Given the description of an element on the screen output the (x, y) to click on. 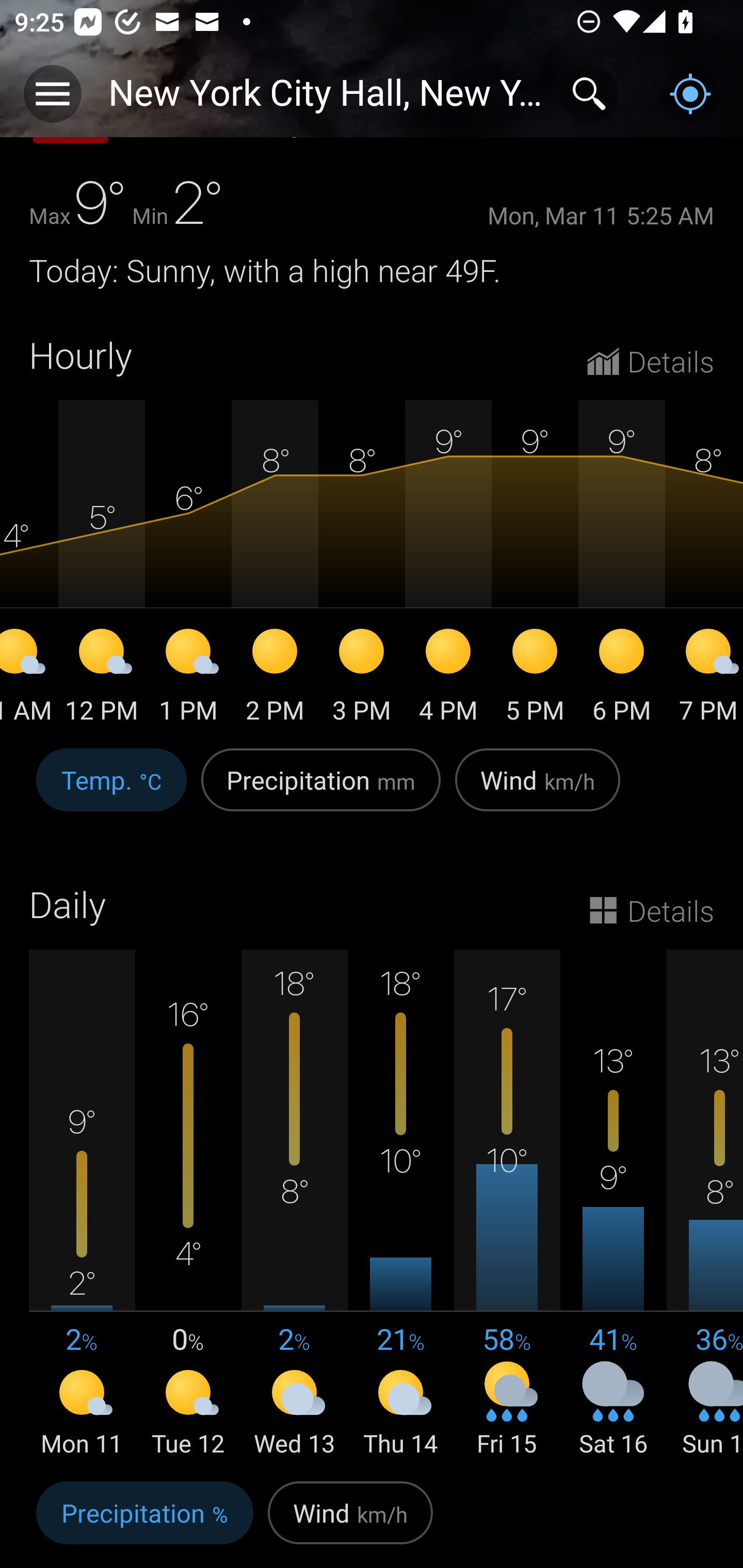
11 AM (28, 678)
12 PM (100, 678)
1 PM (187, 678)
2 PM (274, 678)
3 PM (361, 678)
4 PM (447, 678)
5 PM (534, 678)
6 PM (621, 678)
7 PM (703, 678)
Temp. °C (110, 790)
Precipitation mm (320, 790)
Wind km/h (537, 790)
9° 2° 2 % Mon 11 (81, 1204)
16° 4° 0 % Tue 12 (188, 1204)
18° 8° 2 % Wed 13 (294, 1204)
18° 10° 21 % Thu 14 (400, 1204)
17° 10° 58 % Fri 15 (506, 1204)
13° 9° 41 % Sat 16 (613, 1204)
13° 8° 36 % Sun 17 (704, 1204)
Precipitation % (144, 1520)
Wind km/h (349, 1520)
